Given the description of an element on the screen output the (x, y) to click on. 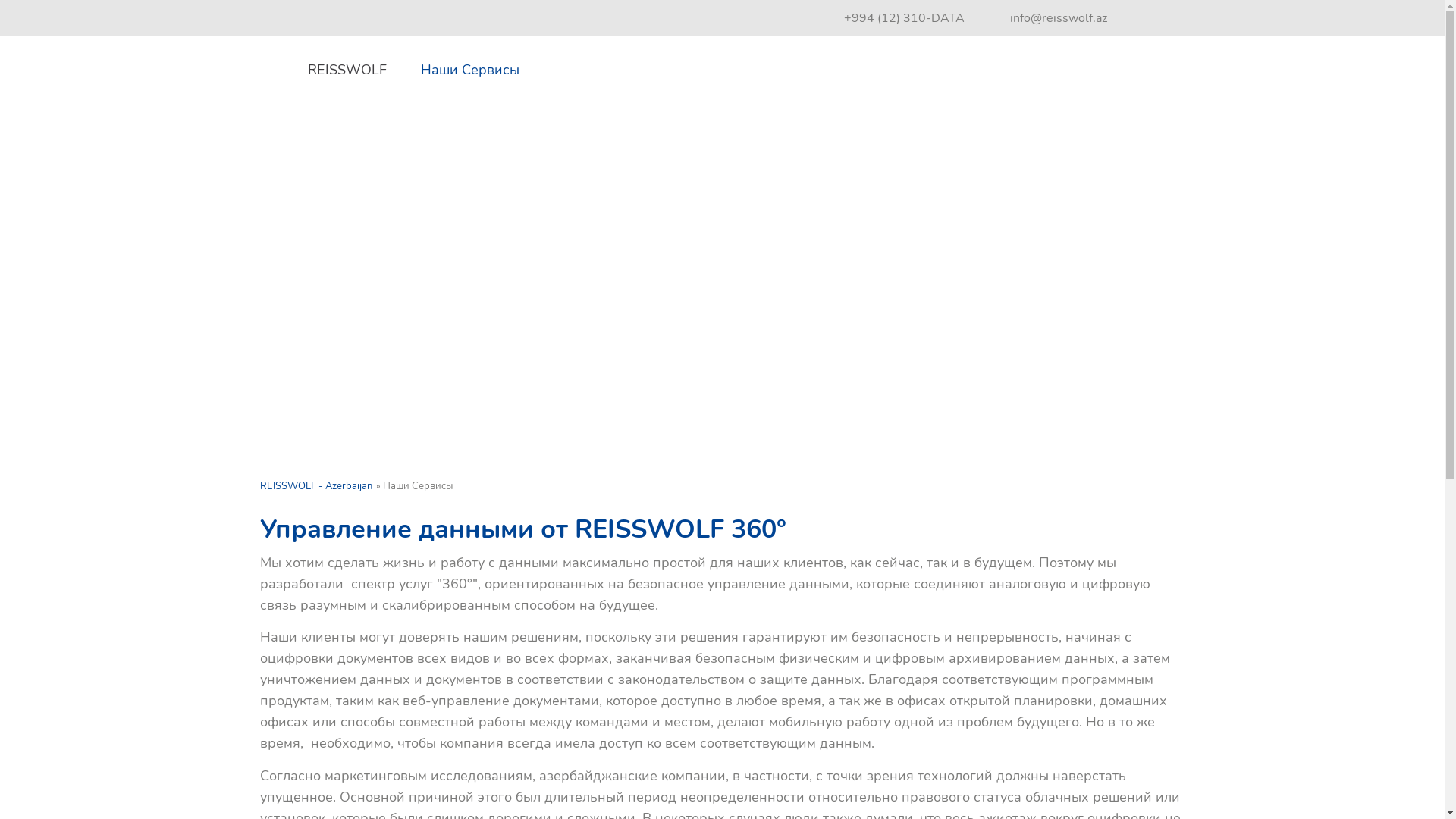
REISSWOLF - Azerbaijan Element type: text (266, 69)
English Element type: text (1158, 18)
info@reisswolf.az Element type: text (1048, 18)
REISSWOLF Element type: text (346, 70)
REISSWOLF - Azerbaijan Element type: text (315, 485)
+994 (12) 310-DATA Element type: text (903, 17)
REISSWOLF Azerbaijan Element type: hover (1116, 99)
